Given the description of an element on the screen output the (x, y) to click on. 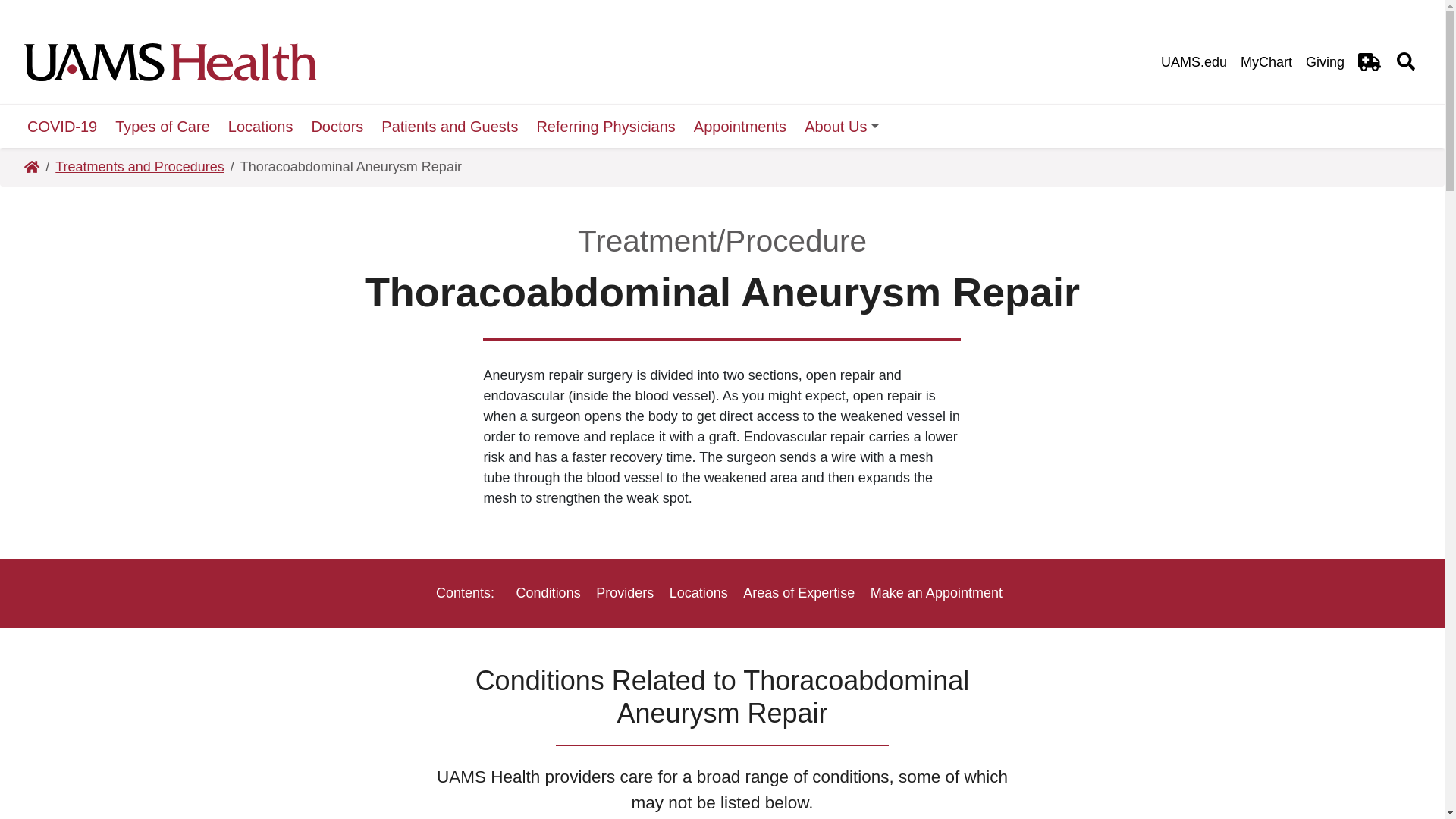
Referring Physicians (605, 126)
Search (944, 35)
Jump to the section of this page about Locations (698, 593)
Types of Care (162, 126)
Locations (260, 126)
Locations (698, 593)
COVID-19 (61, 126)
Make an Appointment (936, 593)
Patients and Guests (449, 126)
Jump to the section of this page about making an appointment (936, 593)
